Given the description of an element on the screen output the (x, y) to click on. 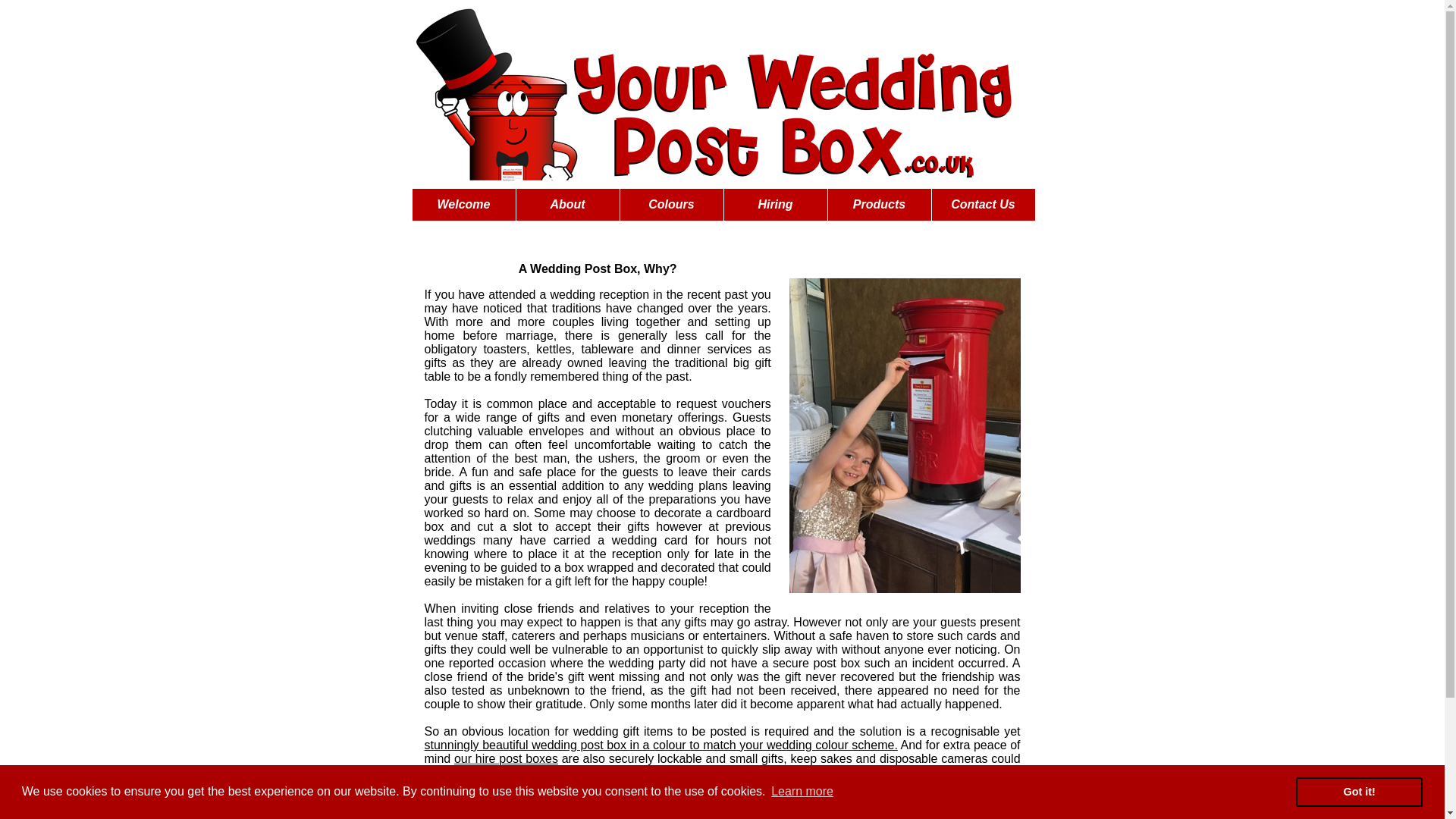
Learn more (801, 791)
Got it! (1358, 791)
Hiring (775, 204)
Products (879, 204)
our hire post boxes (505, 758)
Welcome (463, 204)
Colours (671, 204)
Contact Us (982, 204)
About (566, 204)
